Given the description of an element on the screen output the (x, y) to click on. 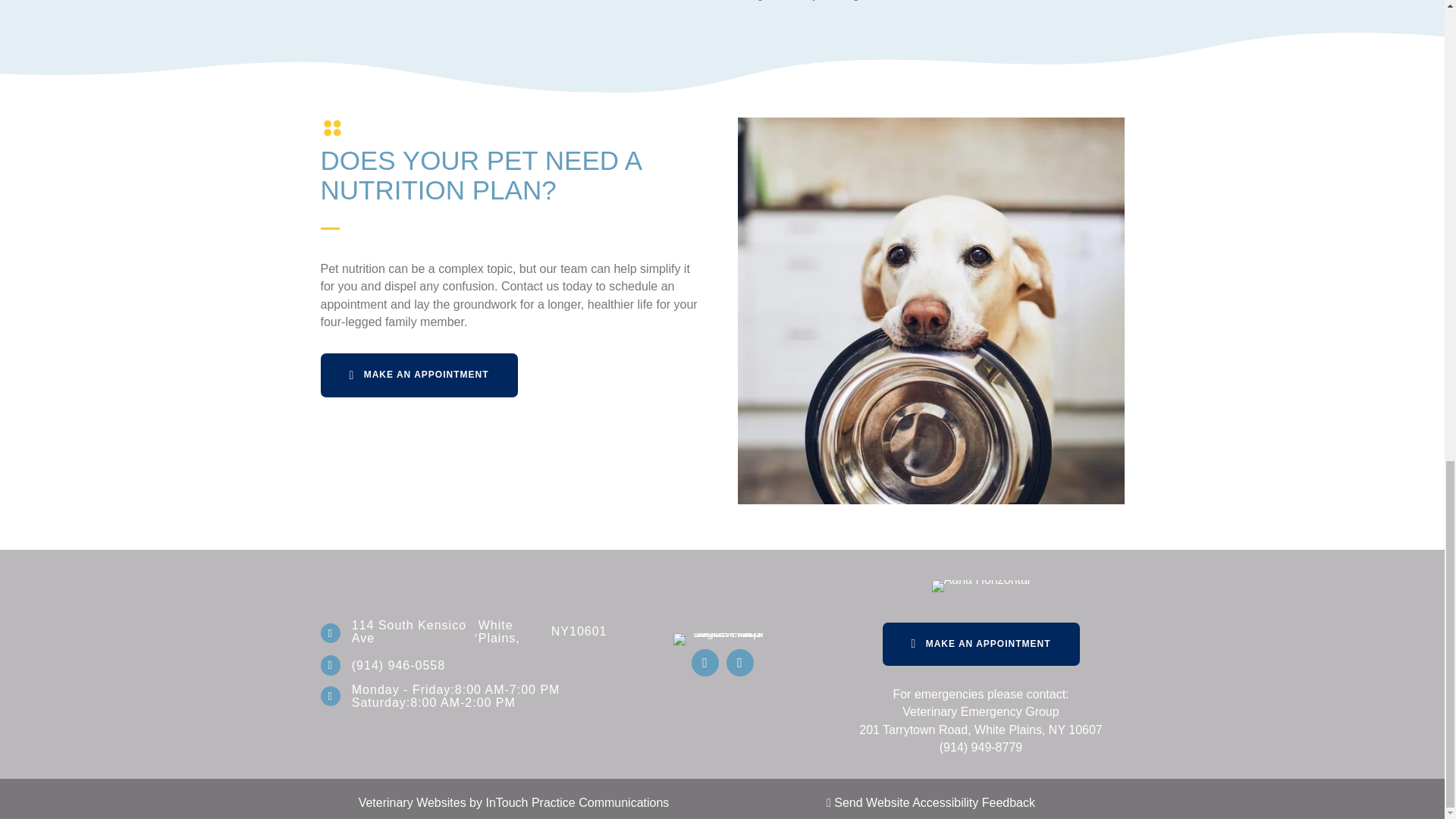
Aaha Horizontal (980, 585)
114 South Kensico Ave , White Plains, NY 10601 (479, 640)
MAKE AN APPOINTMENT (418, 374)
White Plains Logo Vertical White Hosp (721, 639)
